Given the description of an element on the screen output the (x, y) to click on. 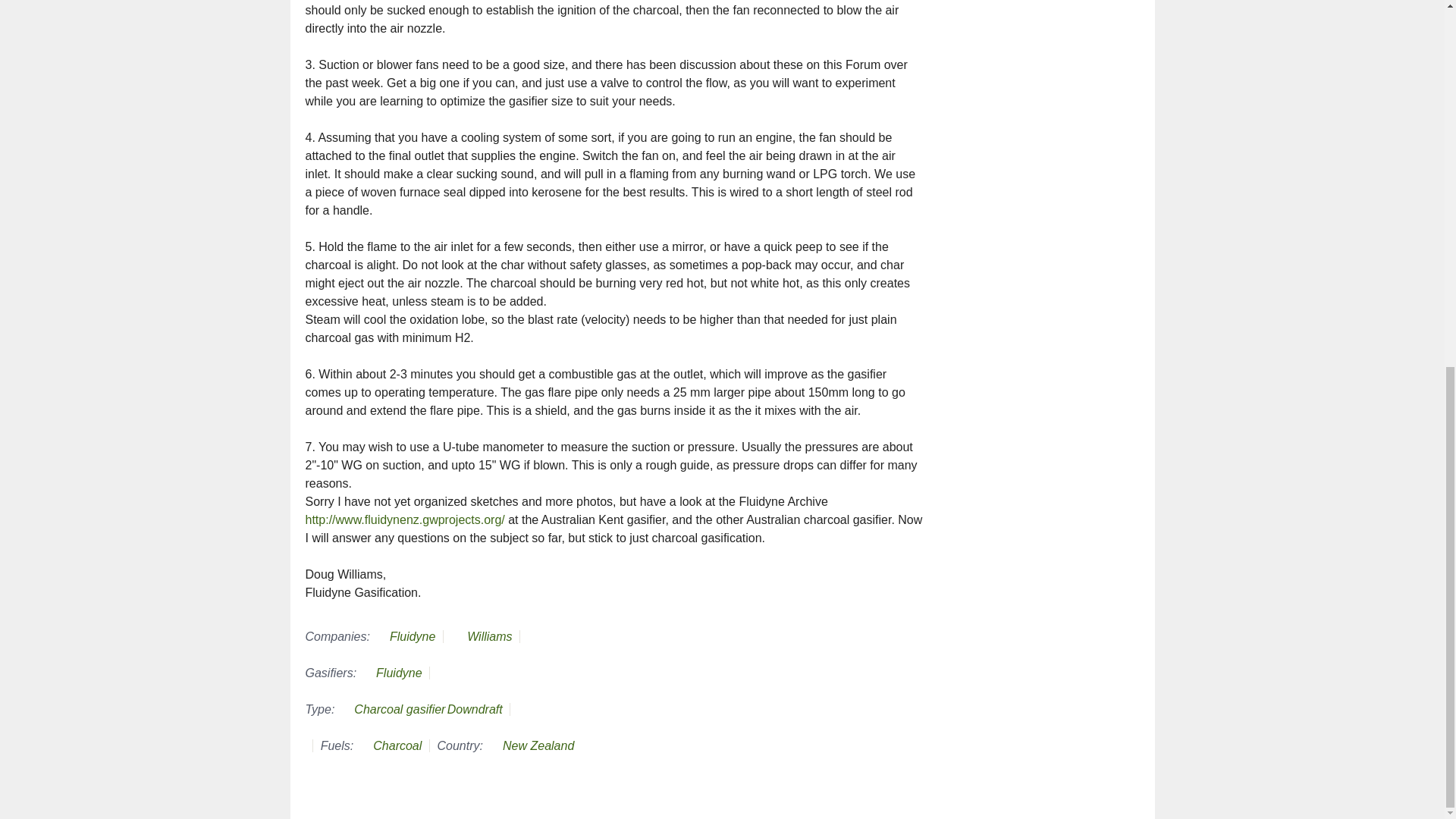
Charcoal (397, 745)
Fluidyne (398, 672)
New Zealand (537, 745)
Williams (489, 635)
Downdraft (474, 708)
Fluidyne (412, 635)
Charcoal gasifier (399, 708)
